Given the description of an element on the screen output the (x, y) to click on. 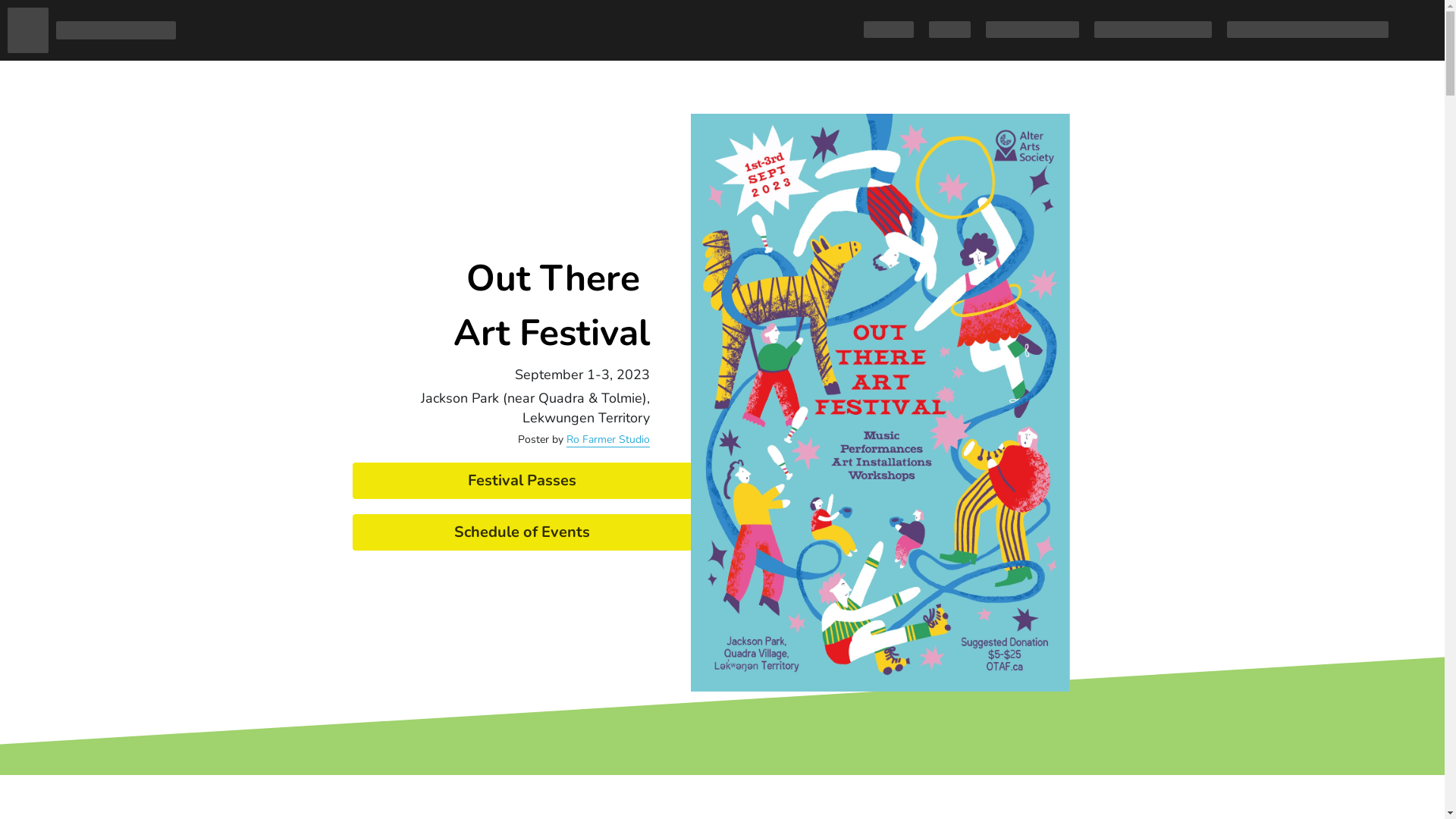
Ro Farmer Studio Element type: text (607, 439)
About Us Element type: text (888, 30)
Out There Art Festival Element type: text (1152, 30)
Quadra Village Mural Project Element type: text (1307, 30)
Upcoming Events Element type: text (1032, 30)
Schedule of Events Element type: text (521, 532)
Art Hub Element type: text (949, 30)
Festival Passes Element type: text (521, 480)
